Given the description of an element on the screen output the (x, y) to click on. 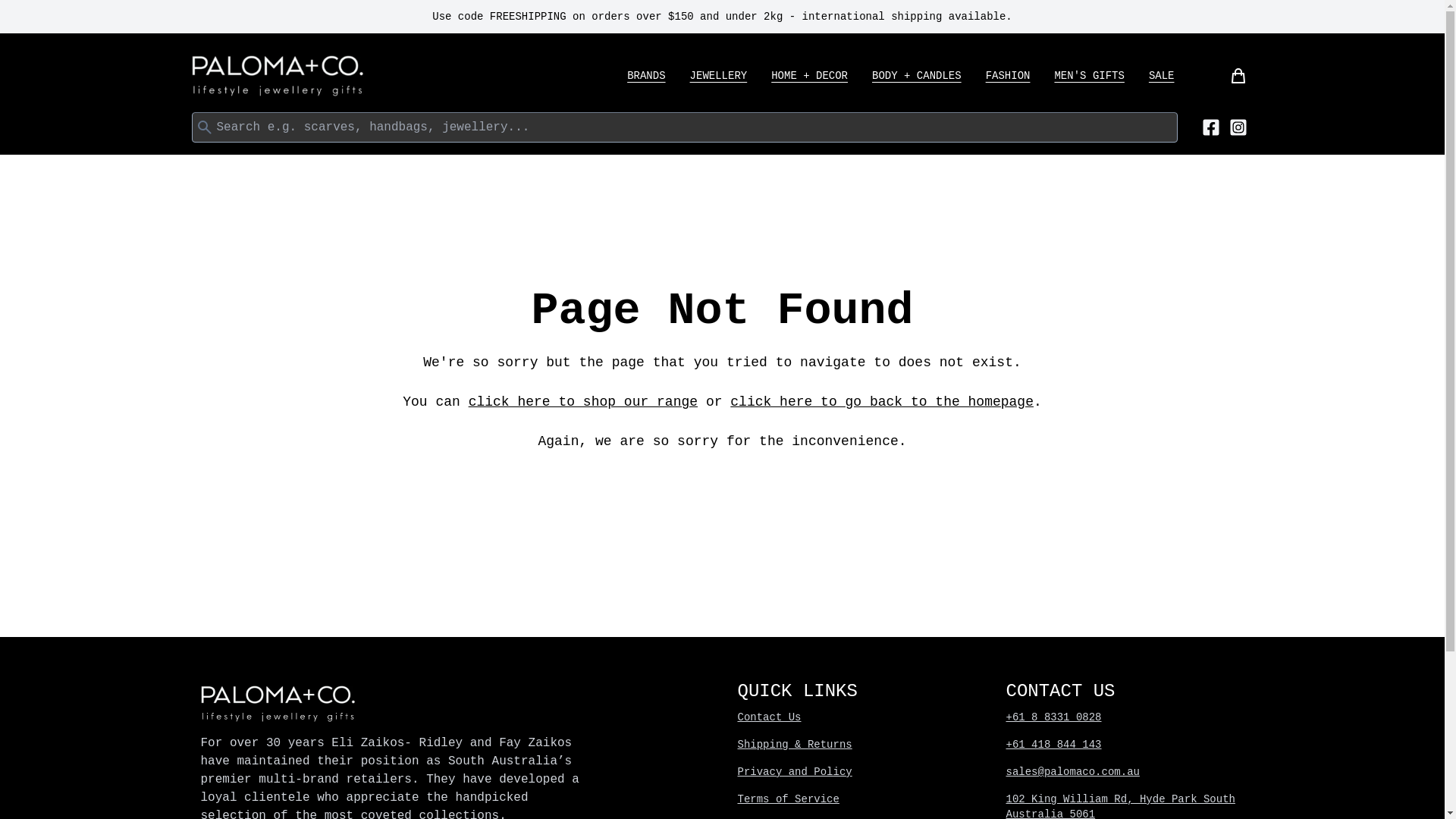
MEN'S GIFTS (1088, 75)
SALE (1161, 75)
BRANDS (645, 75)
FASHION (1008, 75)
JEWELLERY (719, 75)
